Given the description of an element on the screen output the (x, y) to click on. 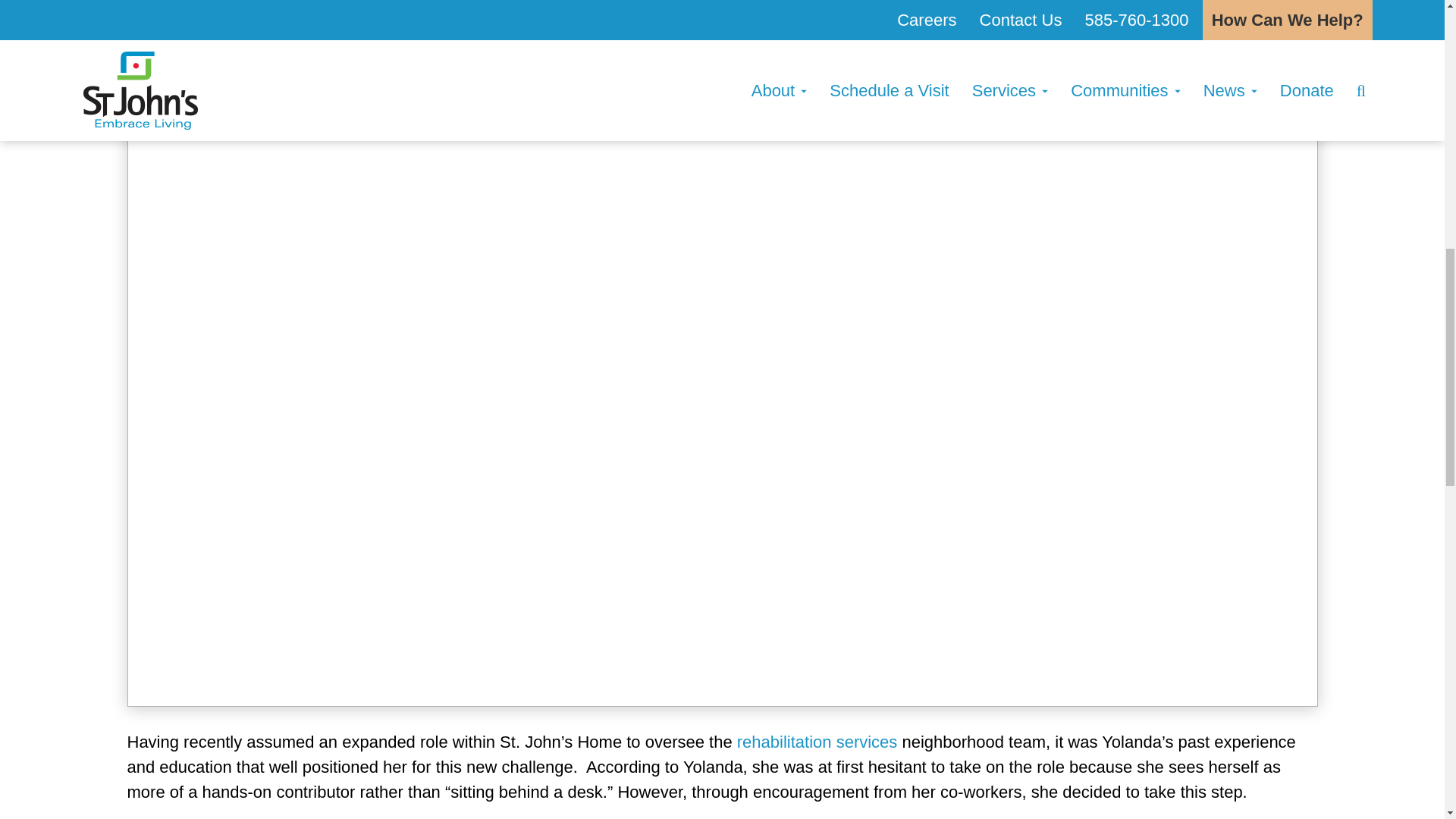
rehabilitation services (817, 741)
